Given the description of an element on the screen output the (x, y) to click on. 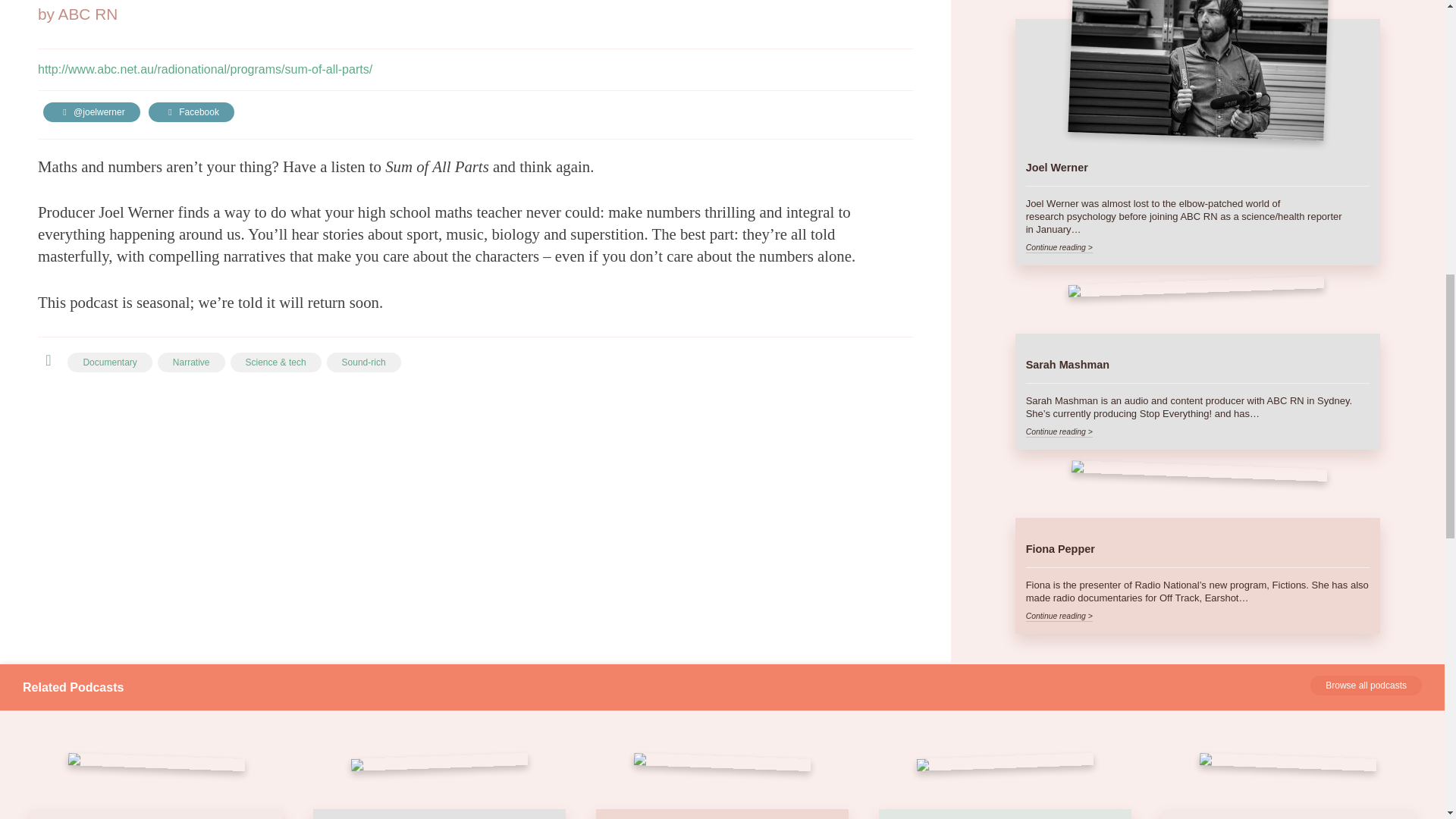
Documentary (108, 362)
Sound-rich (363, 362)
Facebook (191, 112)
Browse all podcasts (1366, 685)
Sum of All Parts (107, 0)
Narrative (191, 362)
